Given the description of an element on the screen output the (x, y) to click on. 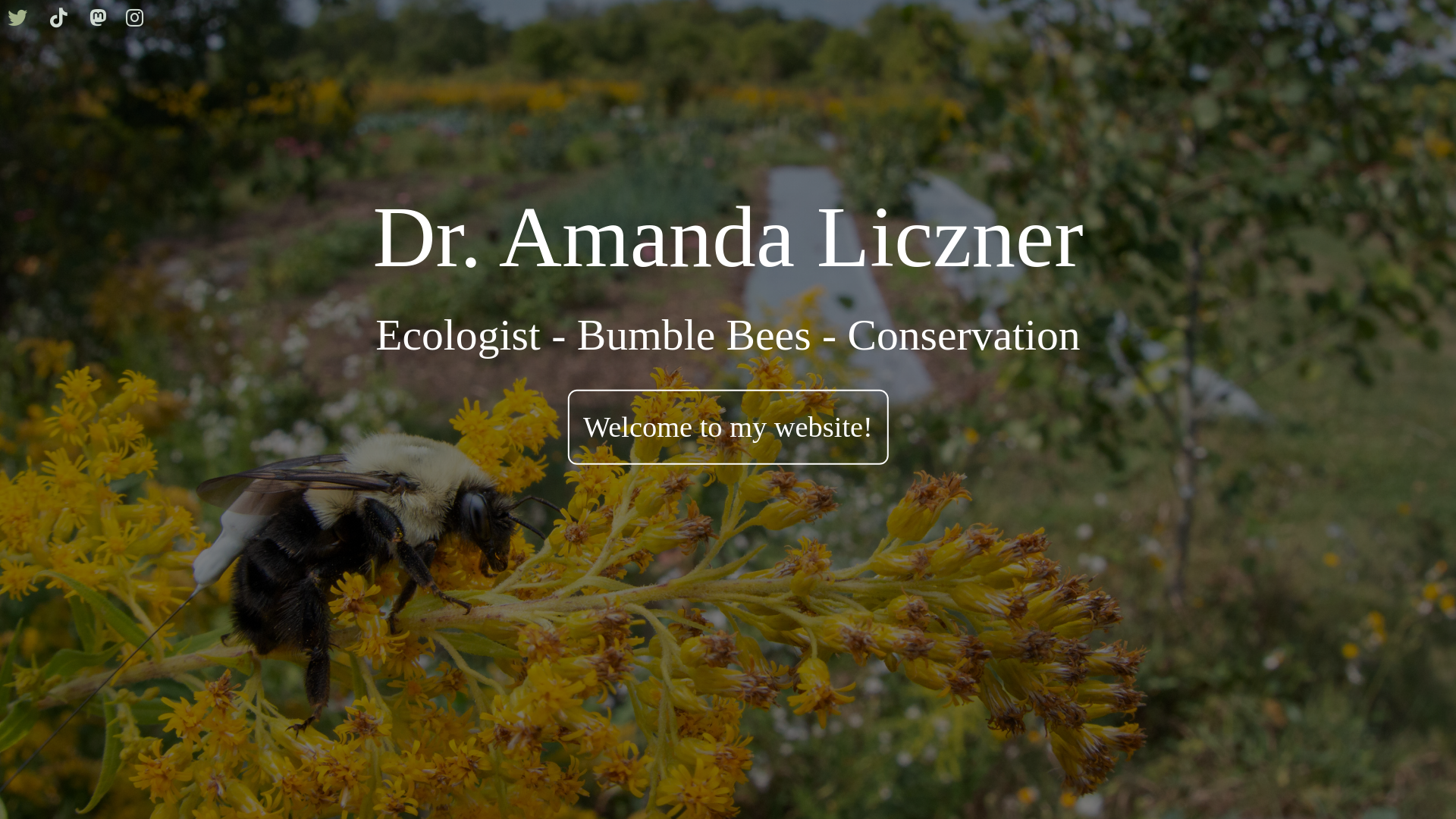
Welcome to my website! Element type: text (727, 426)
